Given the description of an element on the screen output the (x, y) to click on. 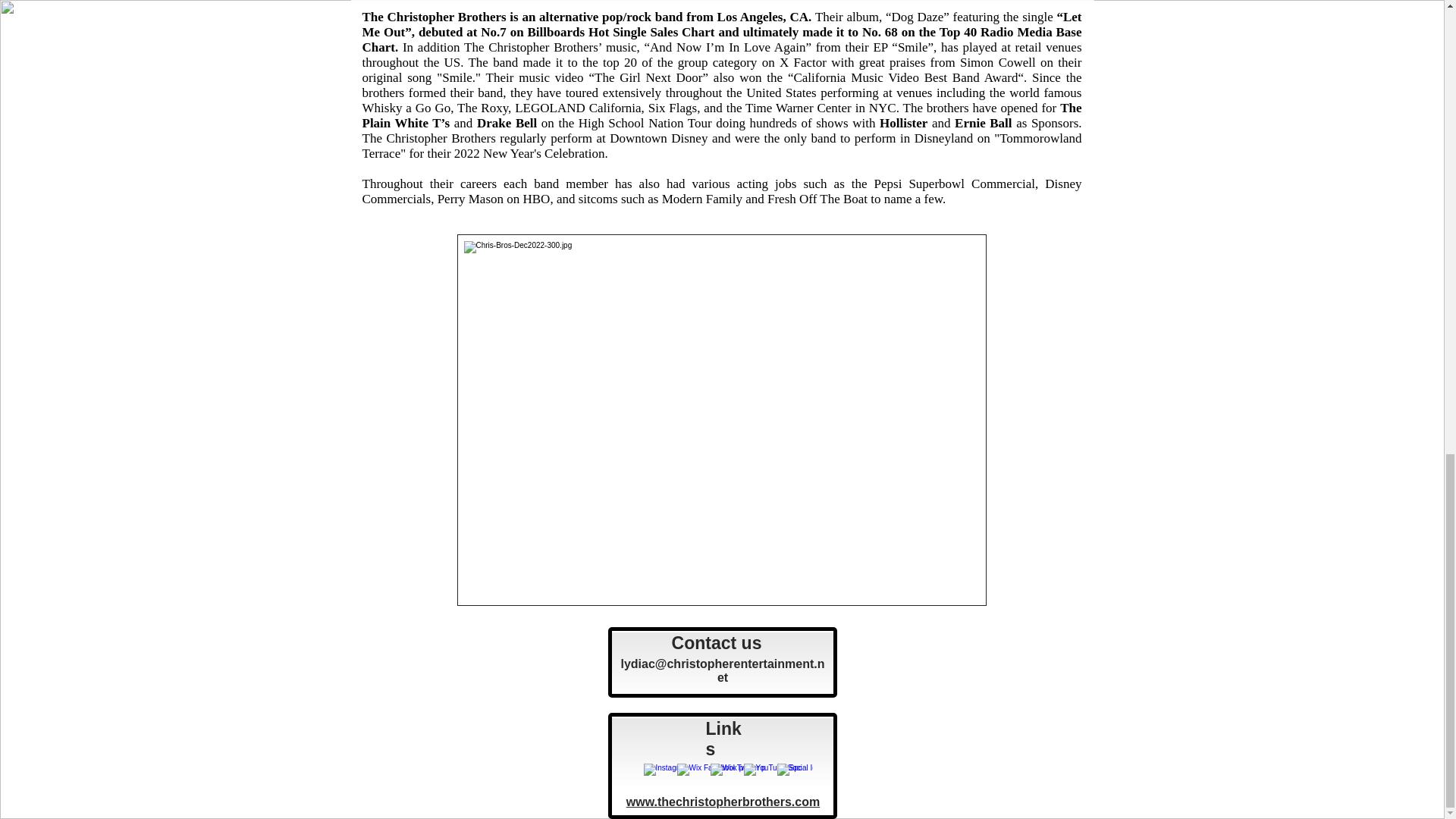
www.thechristopherbrothers.com (722, 801)
